Given the description of an element on the screen output the (x, y) to click on. 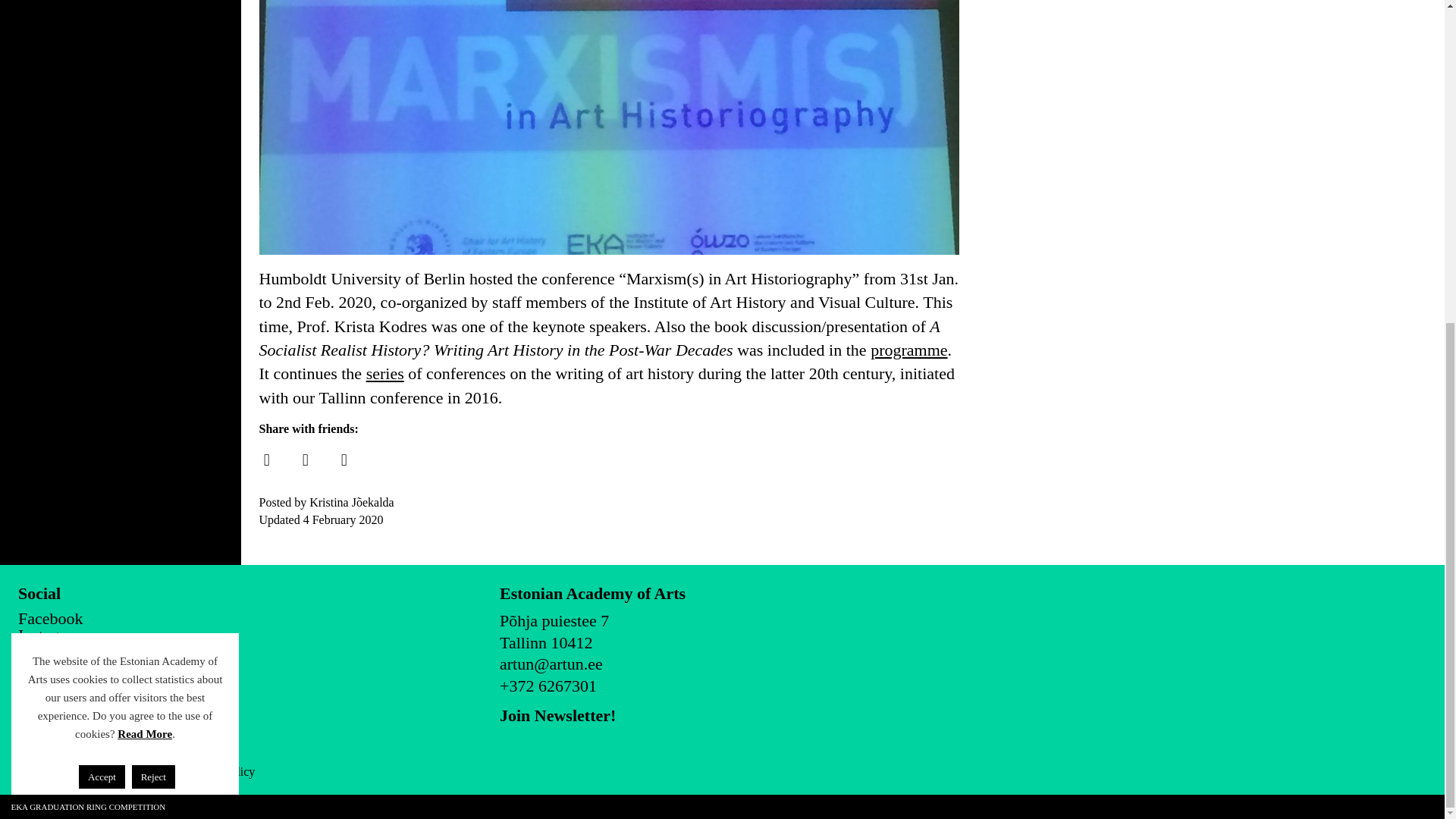
EKA GRADUATION RING COMPETITION (87, 278)
Share on Facebook (265, 460)
Share on LinkedIn (343, 460)
Share on Twitter (304, 460)
